Given the description of an element on the screen output the (x, y) to click on. 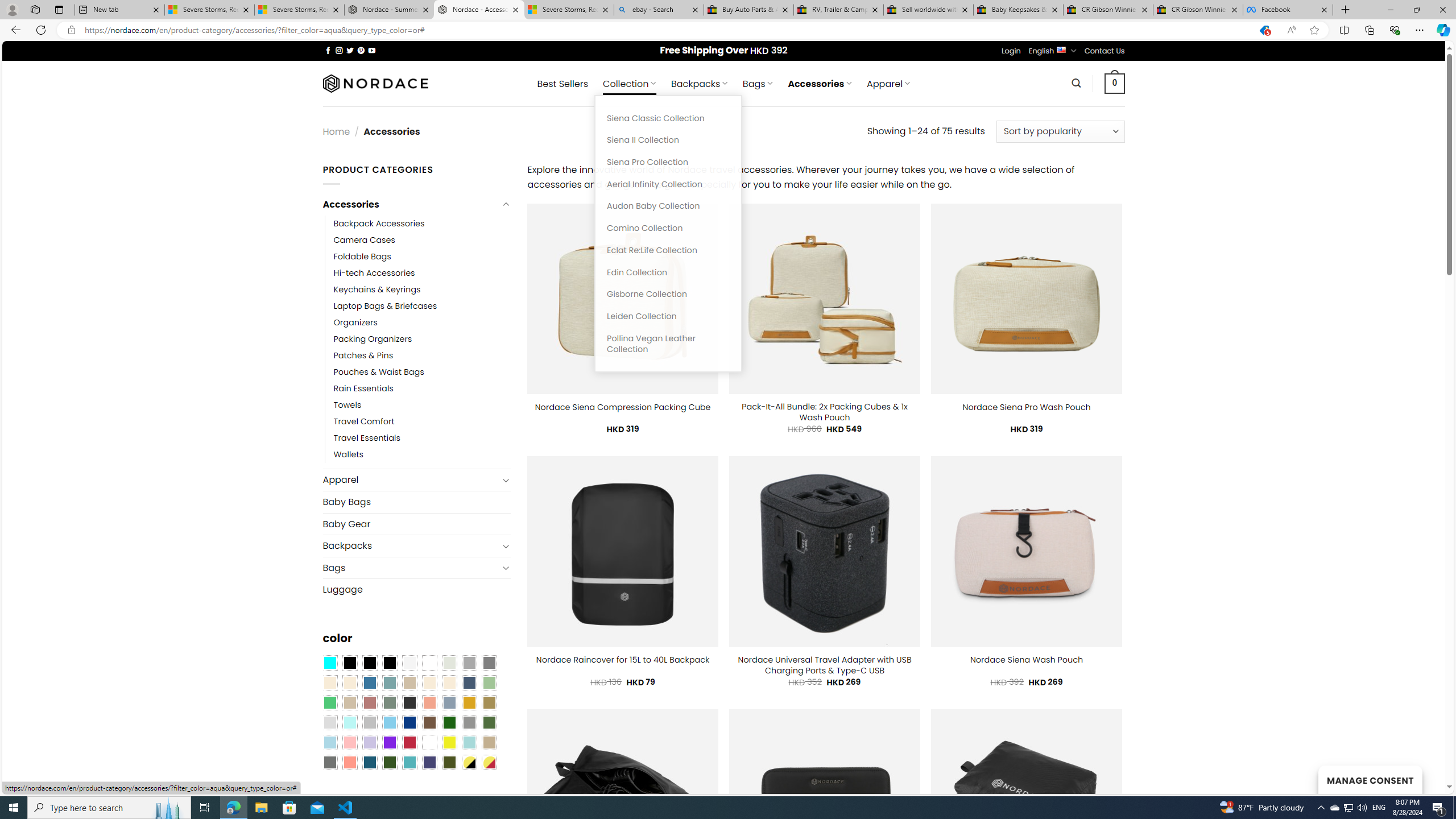
Army Green (449, 762)
Aqua (468, 741)
Dusty Blue (449, 702)
Purple Navy (429, 762)
Packing Organizers (372, 339)
Beige (329, 681)
Keychains & Keyrings (422, 289)
Pack-It-All Bundle: 2x Packing Cubes & 1x Wash Pouch (824, 412)
Hale Navy (468, 681)
Luggage (416, 589)
Luggage (416, 589)
Dull Nickle (329, 762)
Backpack Accessories (422, 222)
